Given the description of an element on the screen output the (x, y) to click on. 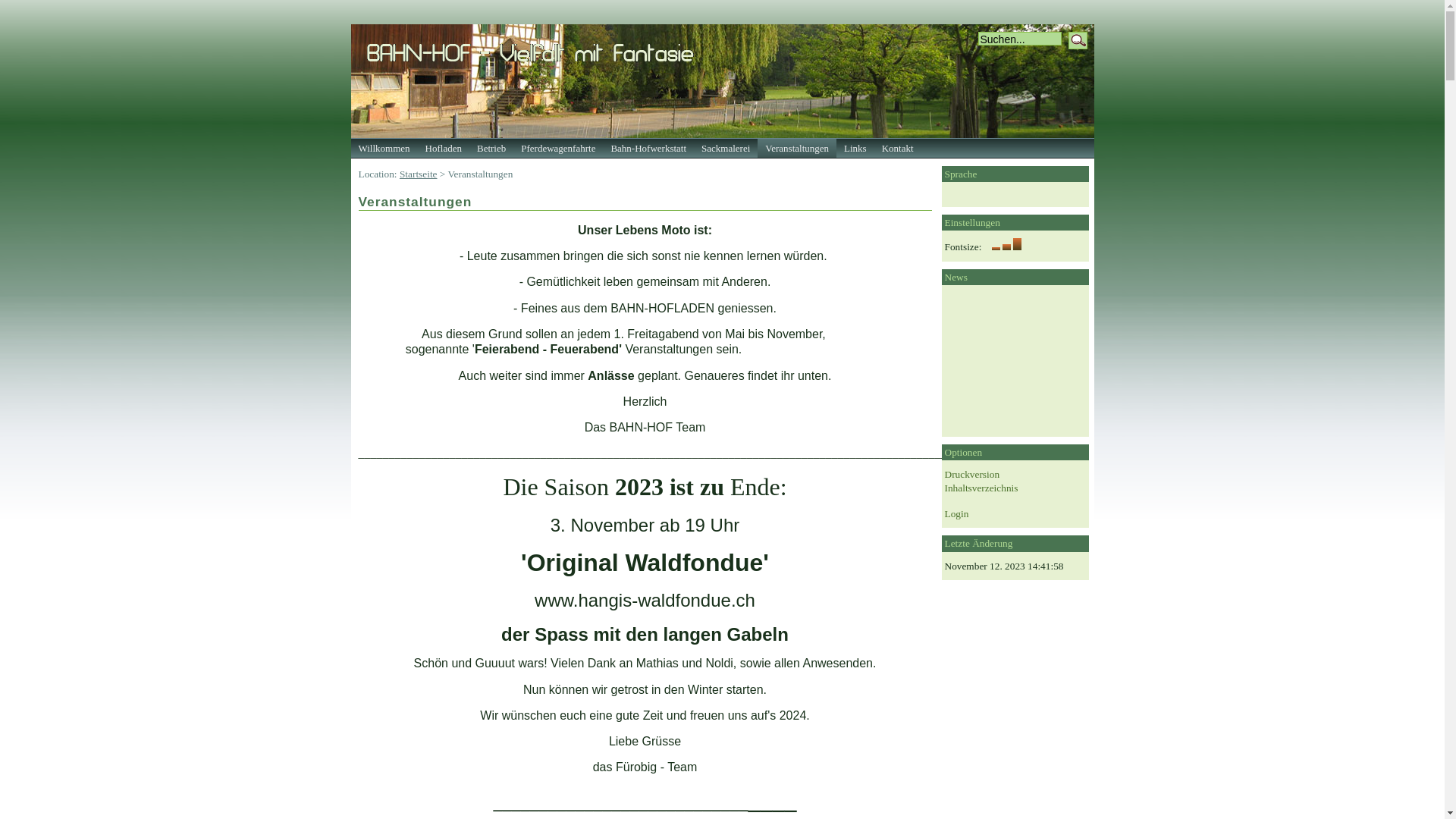
Betrieb Element type: text (491, 148)
Pferdewagenfahrte Element type: text (557, 148)
Inhaltsverzeichnis Element type: text (981, 487)
  Element type: text (929, 148)
Login Element type: text (956, 513)
Bahn-Hofwerkstatt Element type: text (647, 148)
Startseite Element type: text (418, 173)
Hofladen Element type: text (443, 148)
Willkommen Element type: text (383, 148)
Kontakt Element type: text (897, 148)
Links Element type: text (855, 148)
Suchen Element type: hover (1076, 40)
Druckversion Element type: text (972, 474)
Sackmalerei Element type: text (725, 148)
Veranstaltungen Element type: text (796, 148)
